Given the description of an element on the screen output the (x, y) to click on. 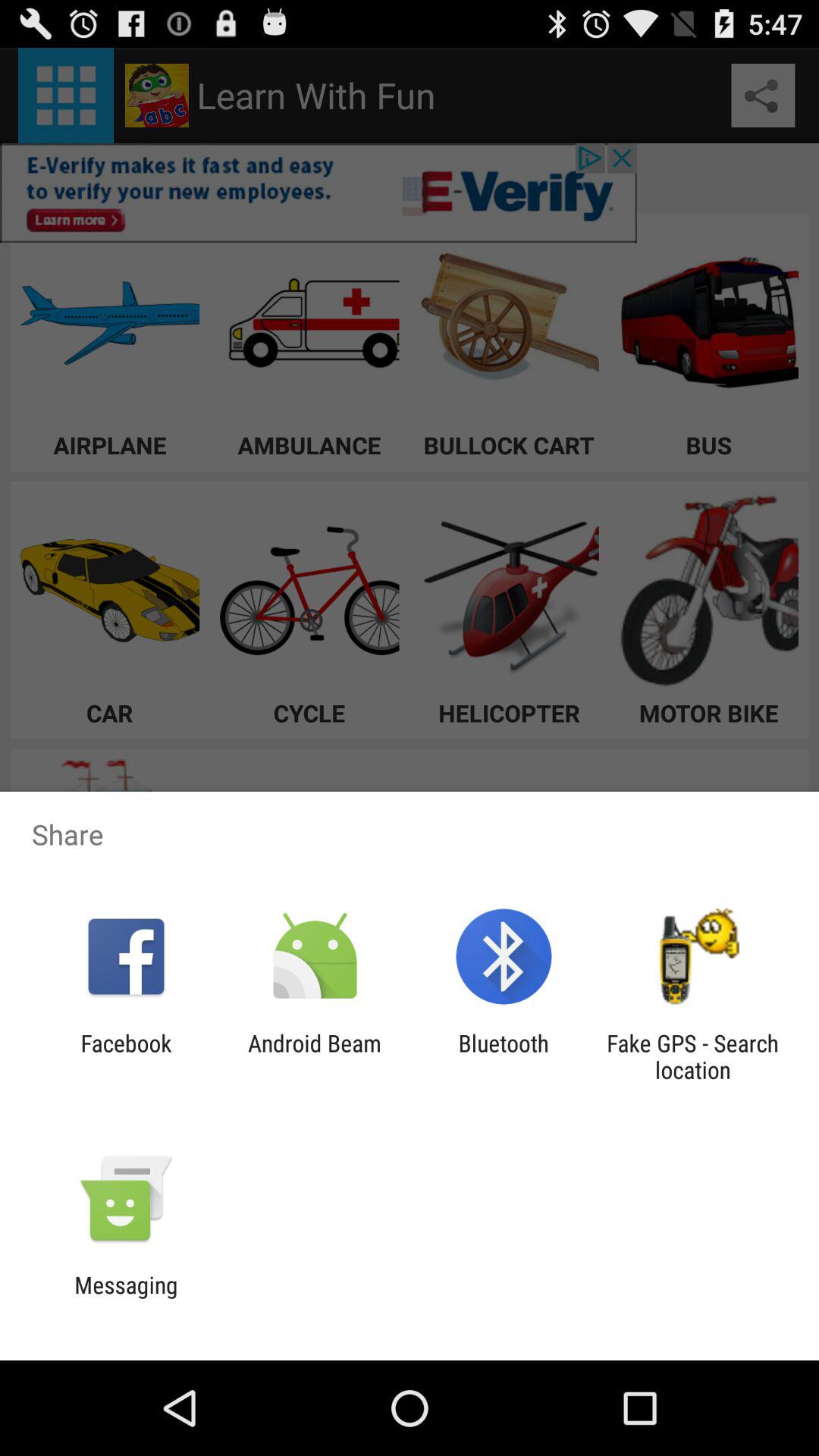
press item to the right of the bluetooth item (692, 1056)
